Given the description of an element on the screen output the (x, y) to click on. 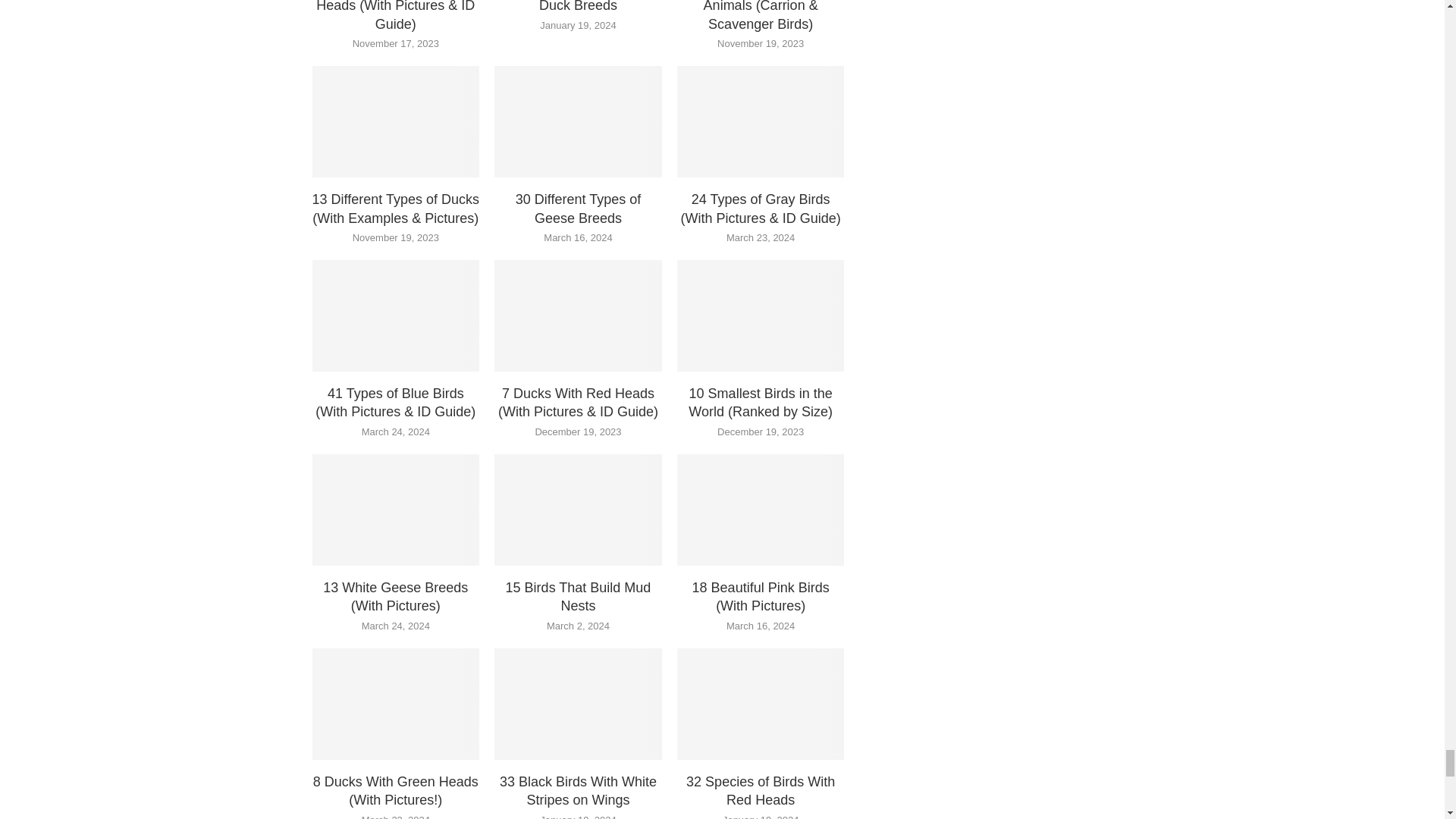
30 Different Types of Geese Breeds (578, 121)
